Given the description of an element on the screen output the (x, y) to click on. 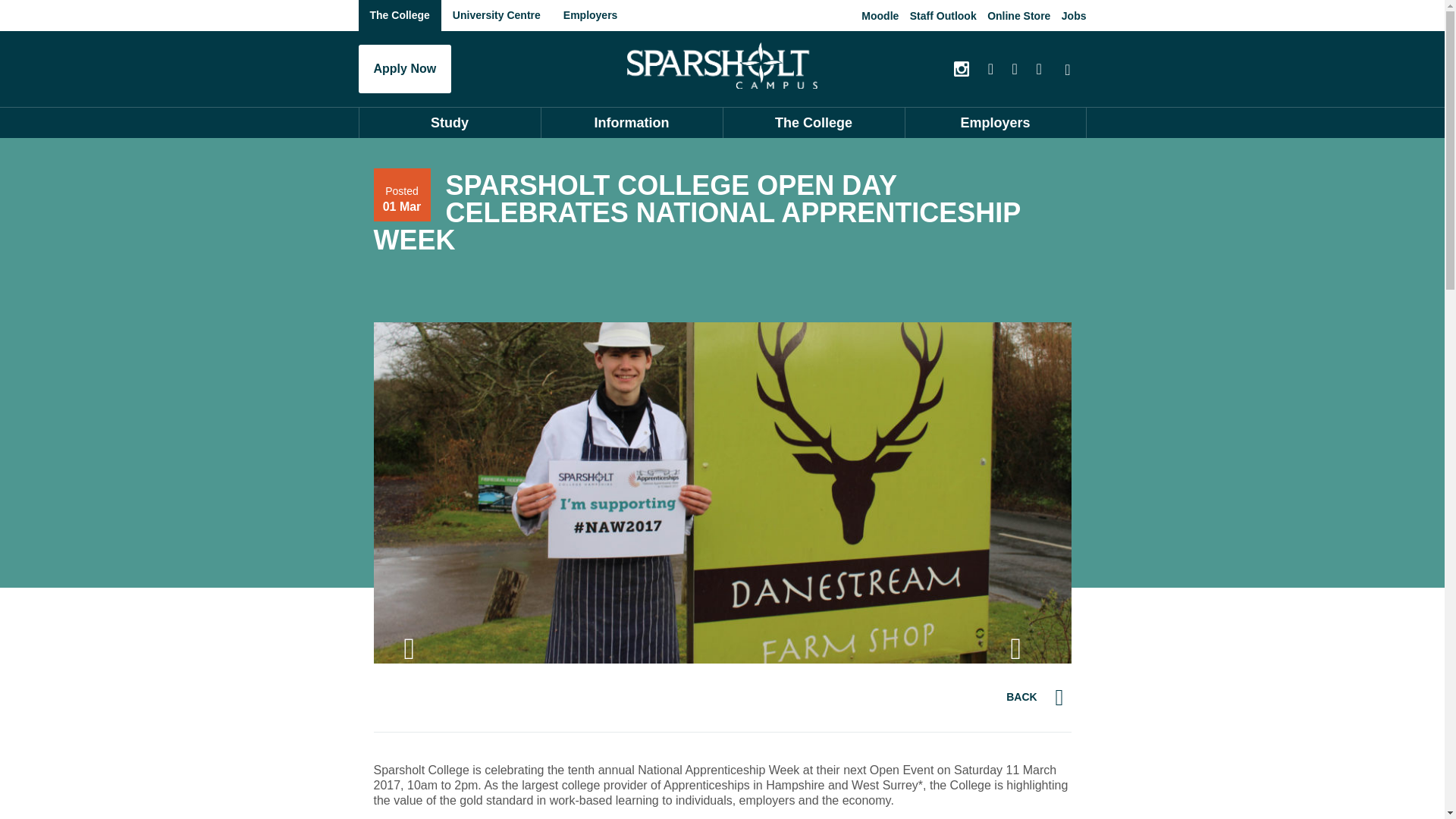
Apply Now (404, 69)
Staff Outlook (943, 15)
Sparsholt College Logo (721, 65)
The College (399, 15)
Jobs (1073, 15)
Moodle (879, 15)
University Centre (496, 15)
Online Store (1018, 15)
Sparsholt College Hampshire (721, 65)
Study (449, 122)
